Given the description of an element on the screen output the (x, y) to click on. 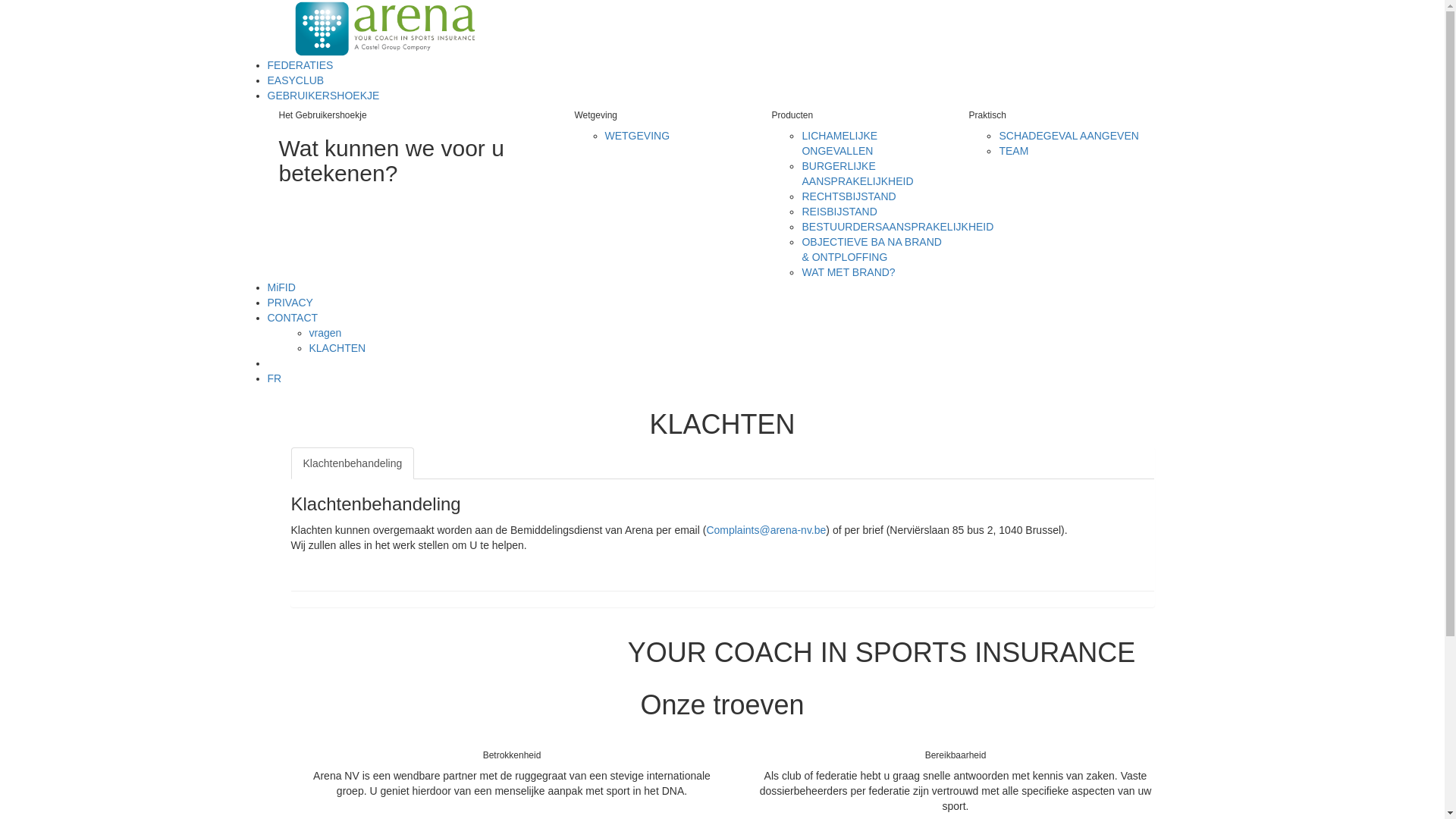
EASYCLUB Element type: text (294, 80)
REISBIJSTAND Element type: text (838, 211)
Klachtenbehandeling Element type: text (352, 463)
WAT MET BRAND? Element type: text (847, 272)
BESTUURDERSAANSPRAKELIJKHEID Element type: text (897, 226)
OBJECTIEVE BA NA BRAND & ONTPLOFFING Element type: text (871, 249)
Complaints@arena-nv.be Element type: text (765, 530)
FR Element type: text (273, 378)
FEDERATIES Element type: text (299, 65)
WETGEVING Element type: text (637, 135)
BURGERLIJKE AANSPRAKELIJKHEID Element type: text (857, 173)
PRIVACY Element type: text (289, 302)
KLACHTEN Element type: text (337, 348)
SCHADEGEVAL AANGEVEN Element type: text (1068, 135)
MiFID Element type: text (280, 287)
TEAM Element type: text (1013, 150)
LICHAMELIJKE ONGEVALLEN Element type: text (839, 142)
RECHTSBIJSTAND Element type: text (848, 196)
CONTACT Element type: text (291, 317)
GEBRUIKERSHOEKJE Element type: text (322, 95)
vragen Element type: text (325, 332)
